Given the description of an element on the screen output the (x, y) to click on. 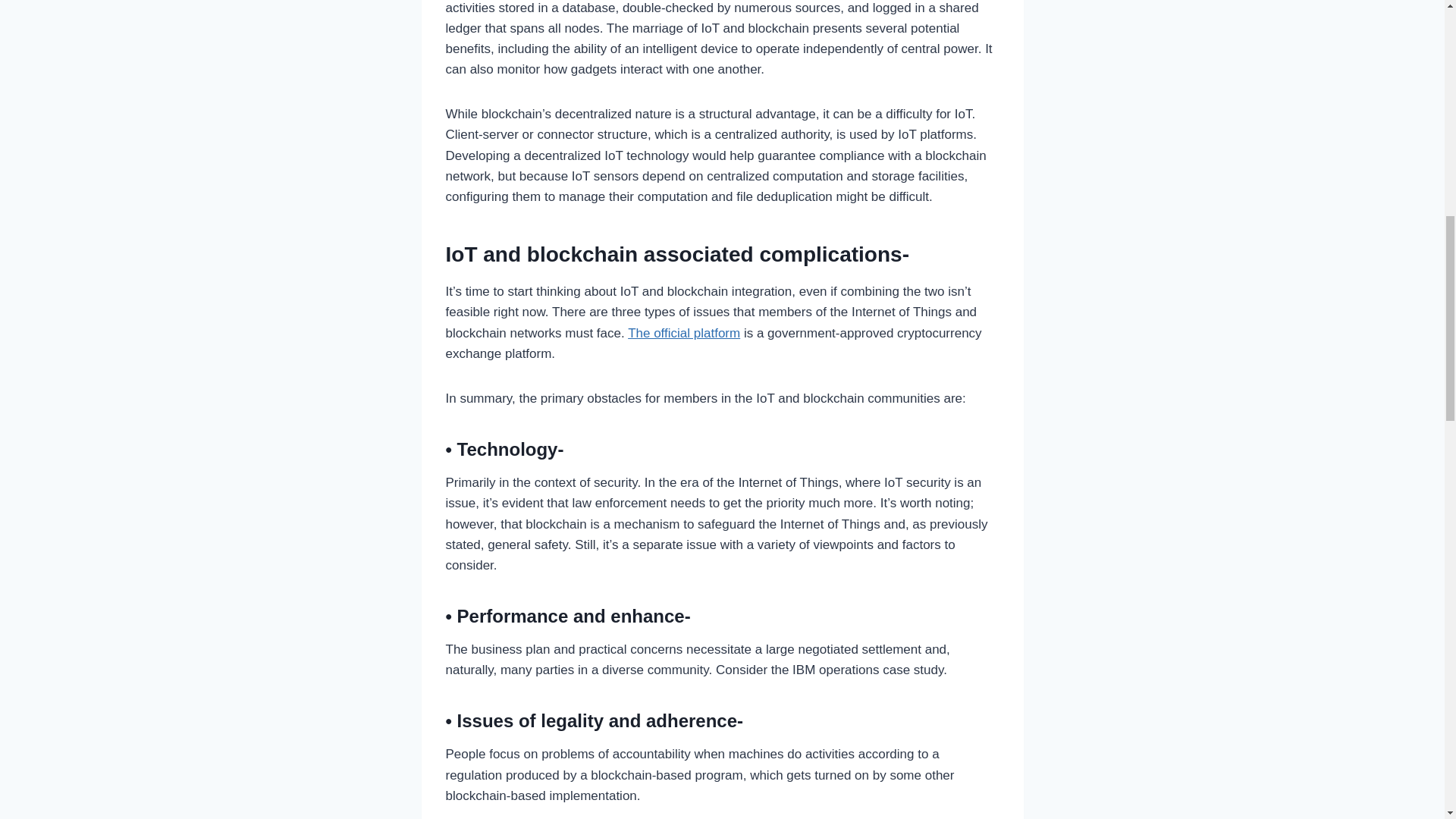
The official platform (683, 332)
The official platform (683, 332)
